Given the description of an element on the screen output the (x, y) to click on. 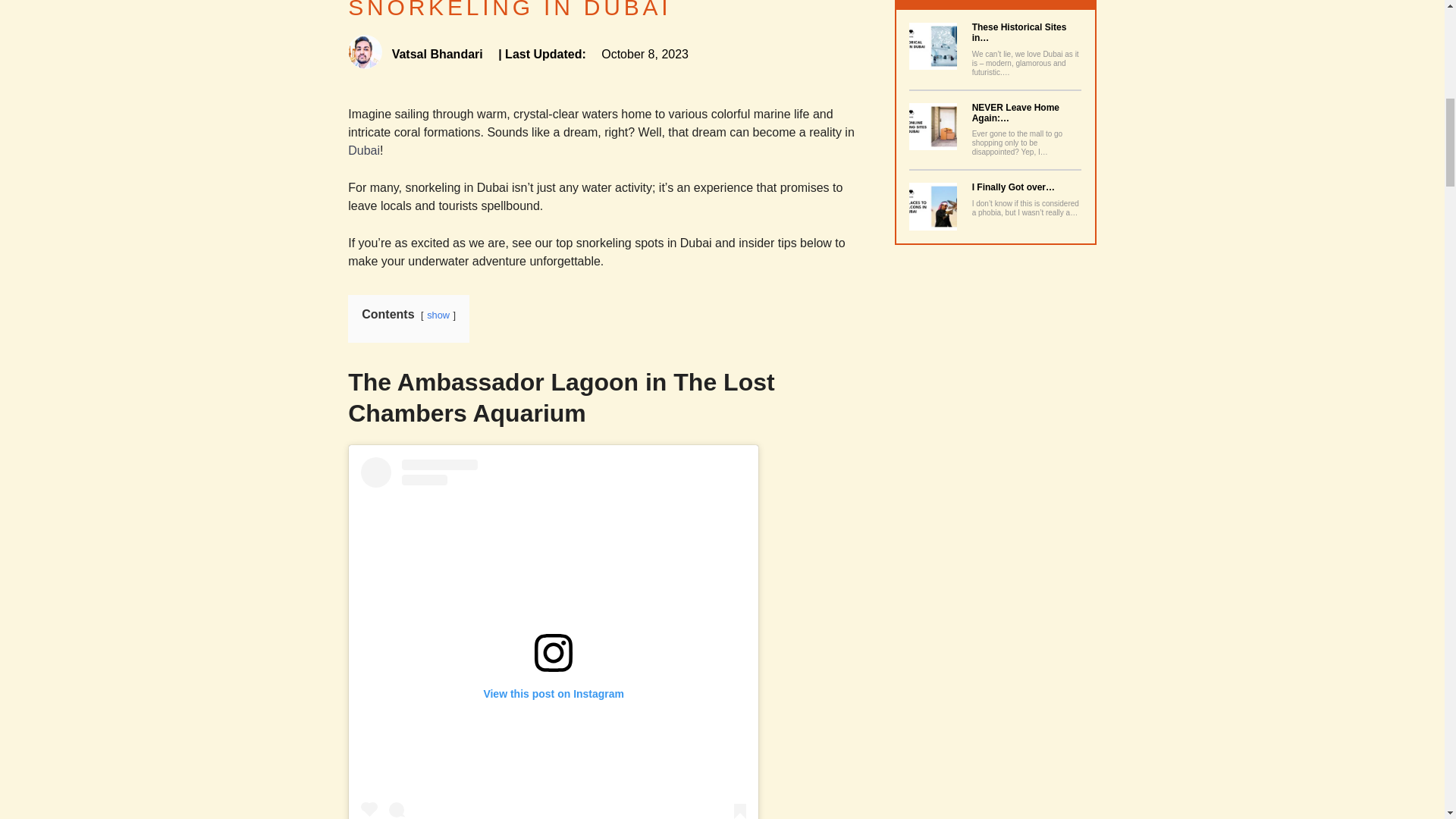
View all posts by Vatsal Bhandari (416, 53)
